Given the description of an element on the screen output the (x, y) to click on. 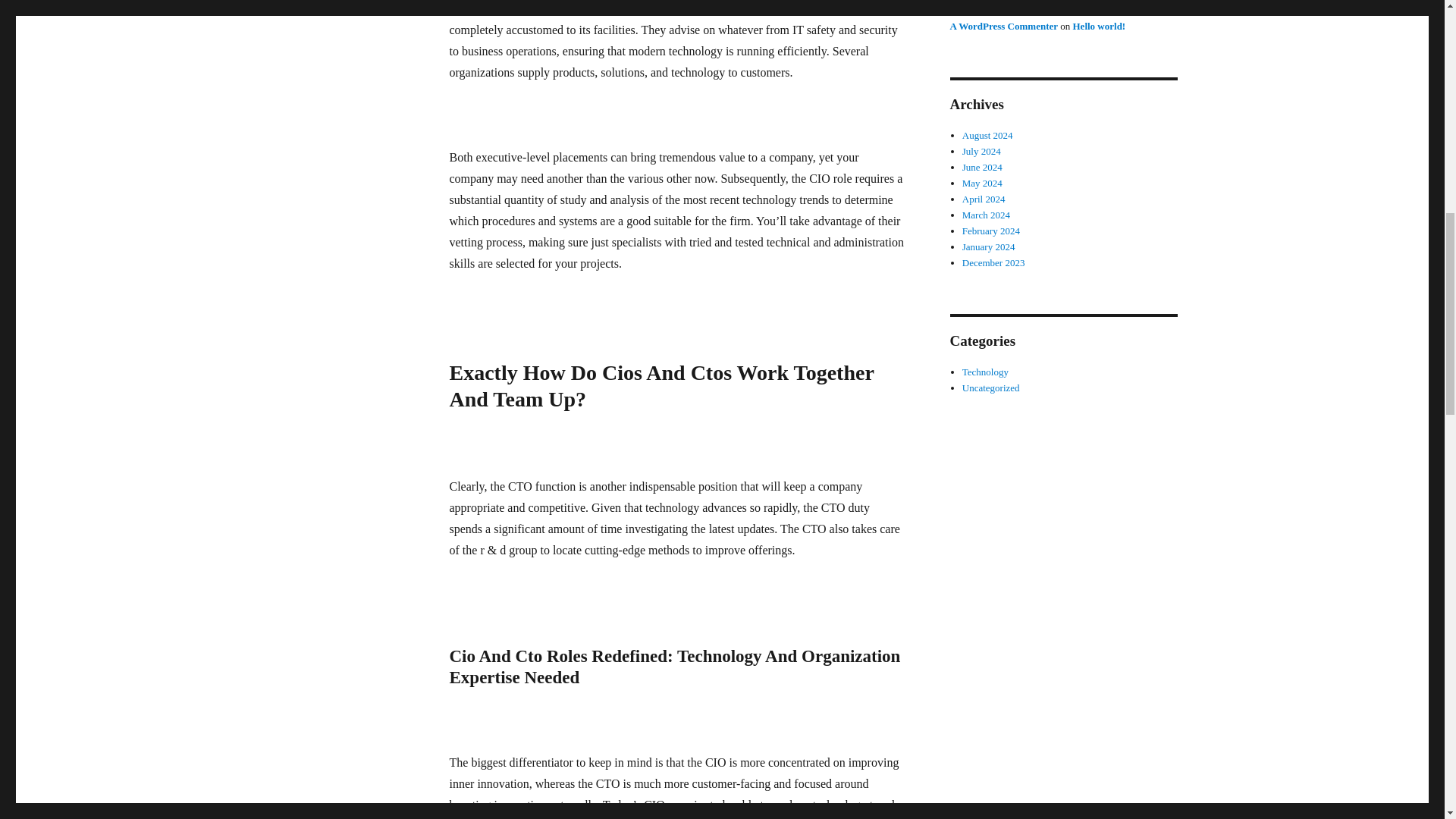
August 2024 (987, 134)
Uncategorized (991, 387)
February 2024 (991, 230)
July 2024 (981, 151)
April 2024 (984, 198)
A WordPress Commenter (1003, 25)
Hello world! (1098, 25)
January 2024 (988, 246)
Technology (985, 371)
June 2024 (982, 166)
